Given the description of an element on the screen output the (x, y) to click on. 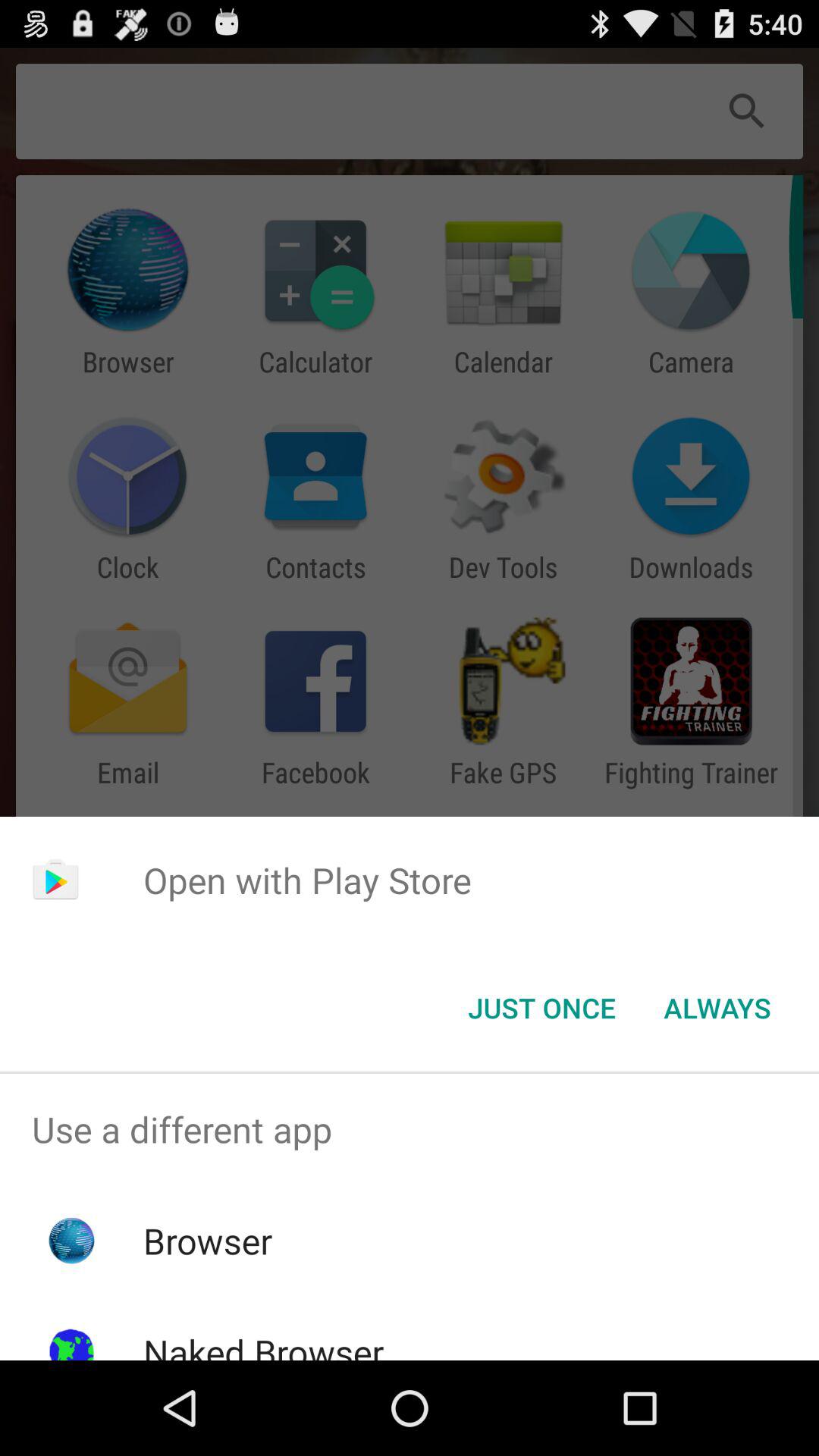
tap button to the right of the just once icon (717, 1007)
